Given the description of an element on the screen output the (x, y) to click on. 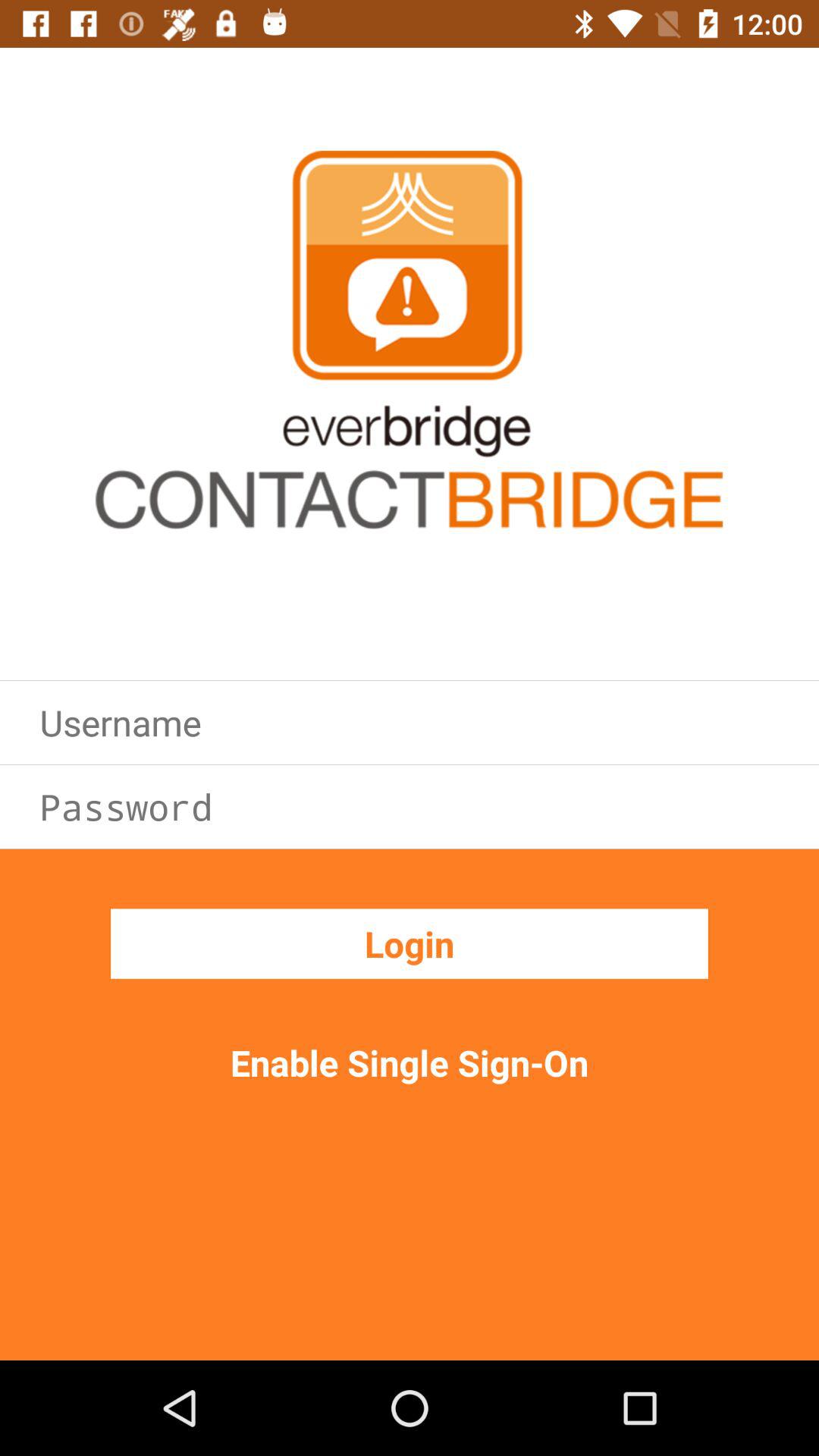
open the icon above enable single sign item (409, 943)
